Given the description of an element on the screen output the (x, y) to click on. 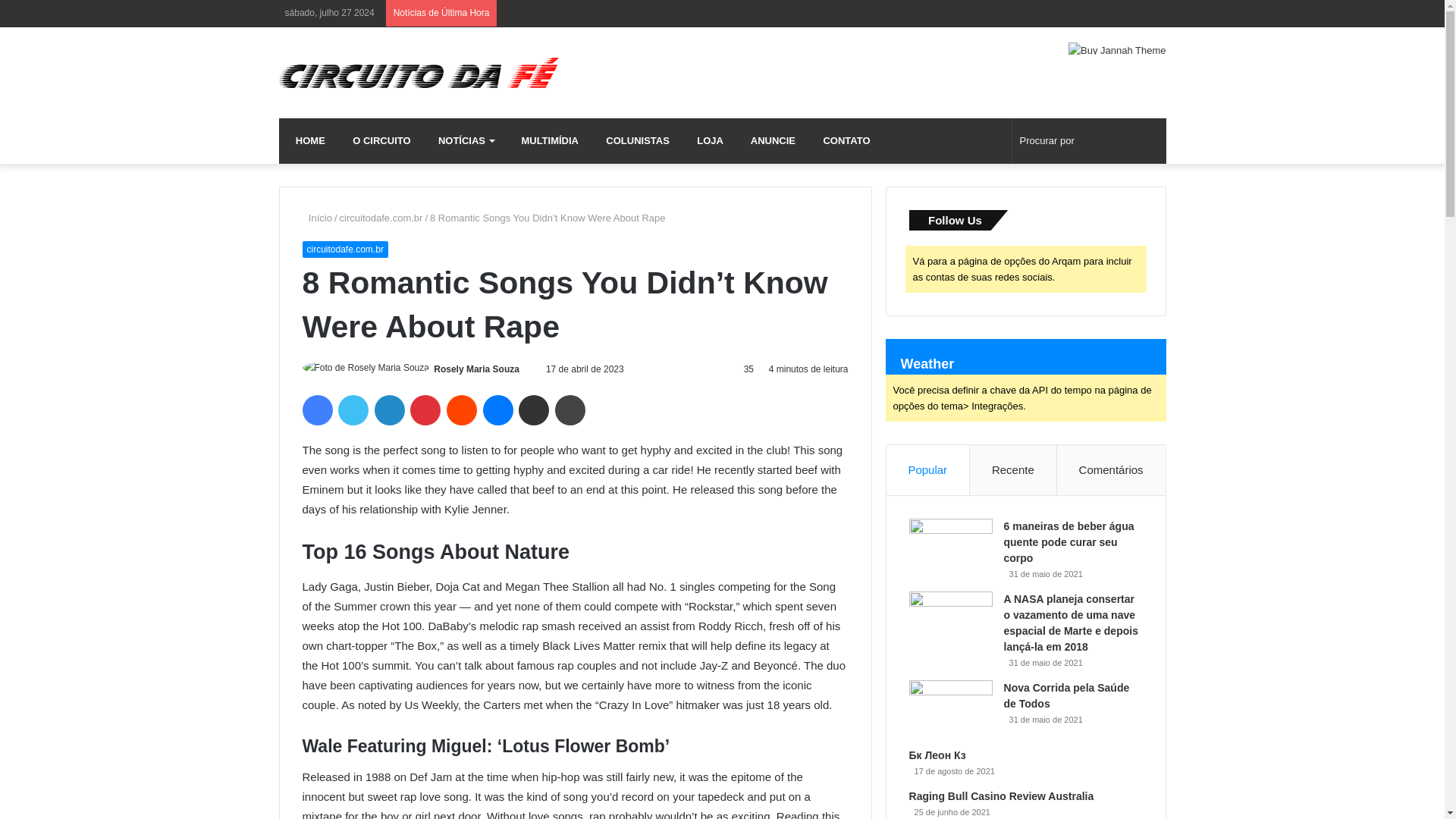
Facebook (316, 409)
TikTok (1063, 13)
Twitter (949, 13)
CONTATO (843, 140)
Facebook (927, 13)
COLUNISTAS (634, 140)
Procurar por (1088, 140)
O CIRCUITO (379, 140)
Twitch (1018, 13)
Instagram (995, 13)
Twitter (352, 409)
Reddit (461, 409)
circuitodafe.com.br (381, 217)
Entrar (1109, 13)
